Given the description of an element on the screen output the (x, y) to click on. 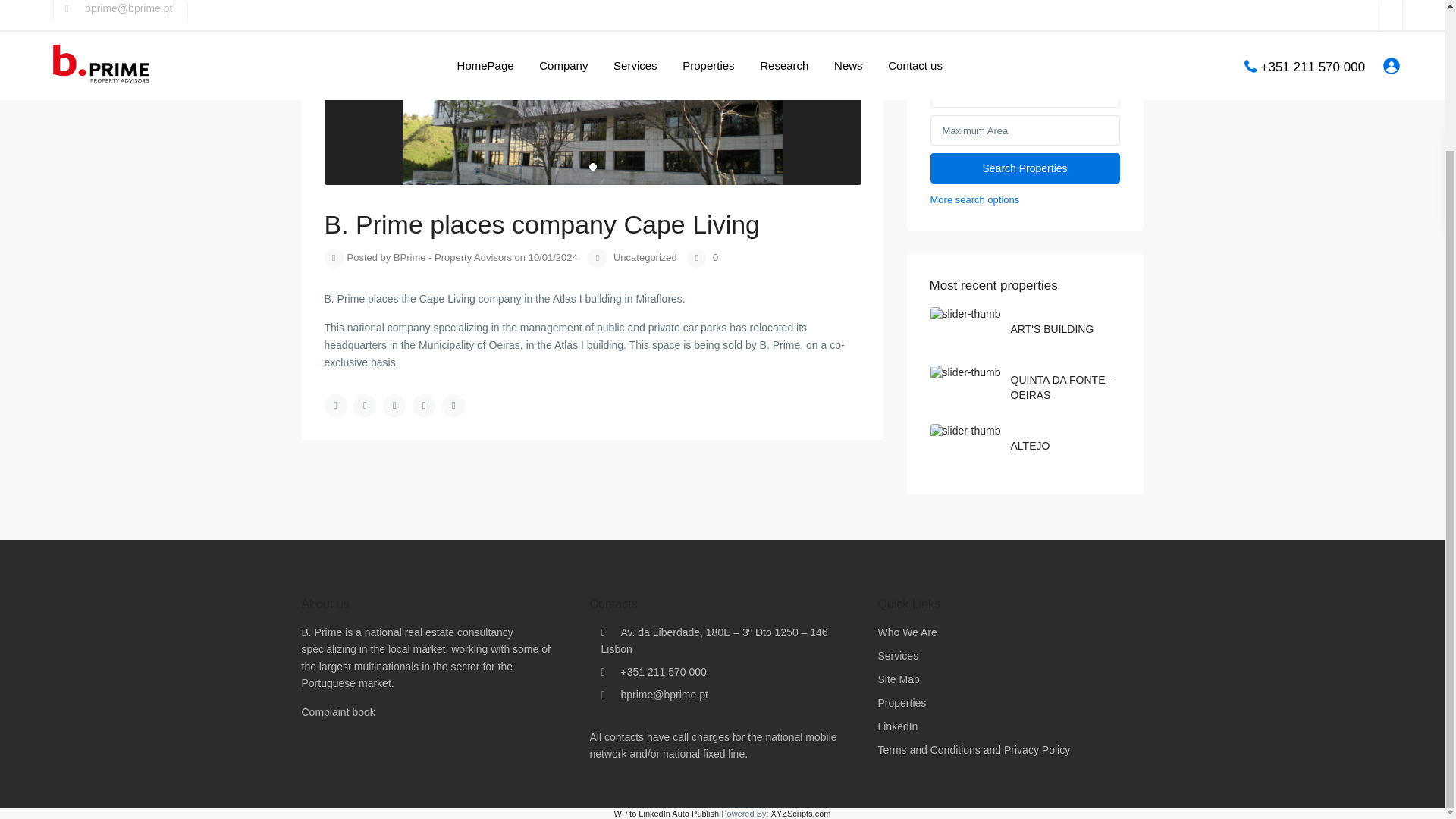
WP to LinkedIn Auto Publish (666, 813)
Uncategorized (644, 256)
Search Properties (1024, 168)
